Given the description of an element on the screen output the (x, y) to click on. 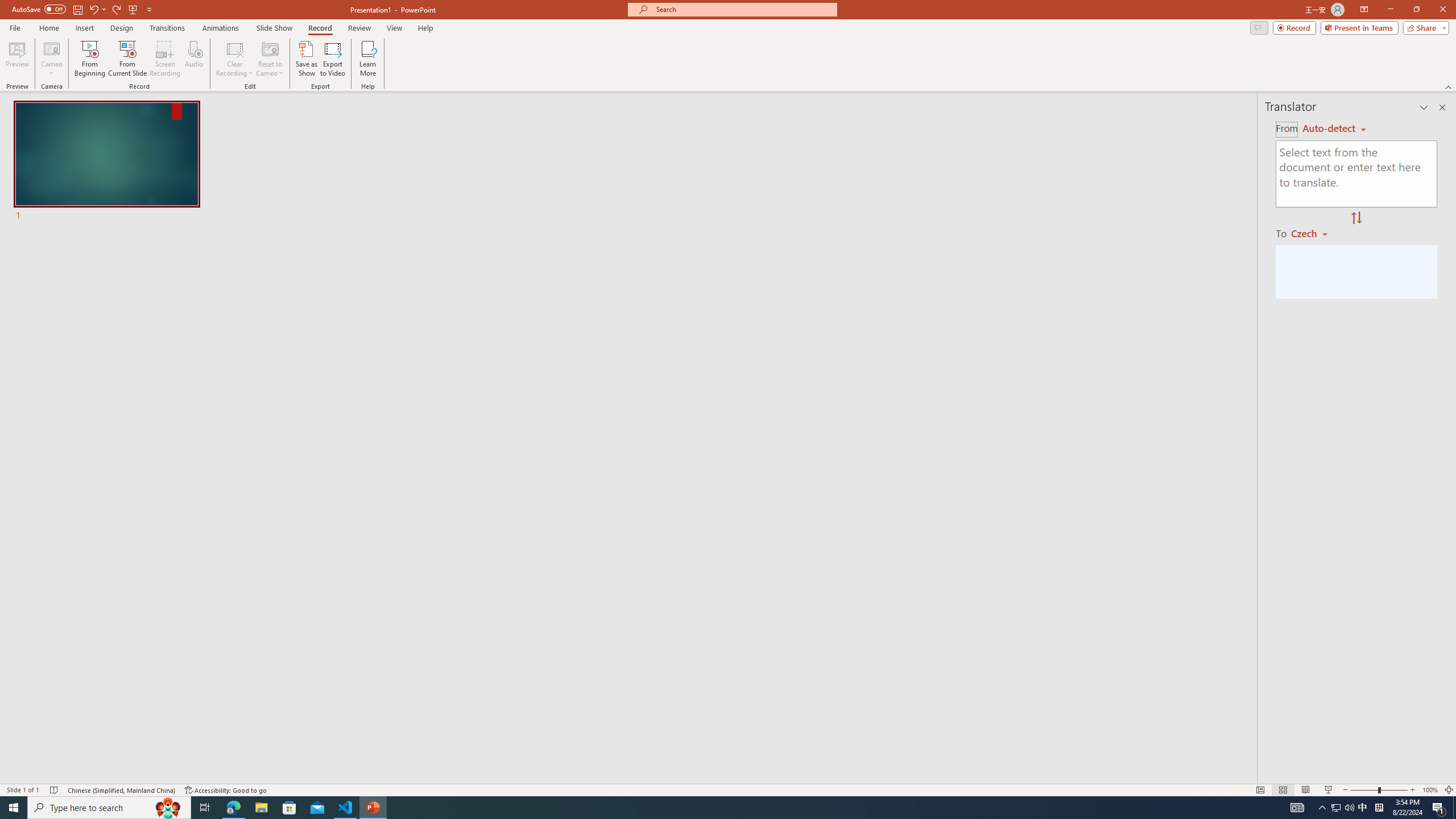
Czech (1313, 232)
Clear Recording (234, 58)
Save as Show (306, 58)
Learn More (368, 58)
